Given the description of an element on the screen output the (x, y) to click on. 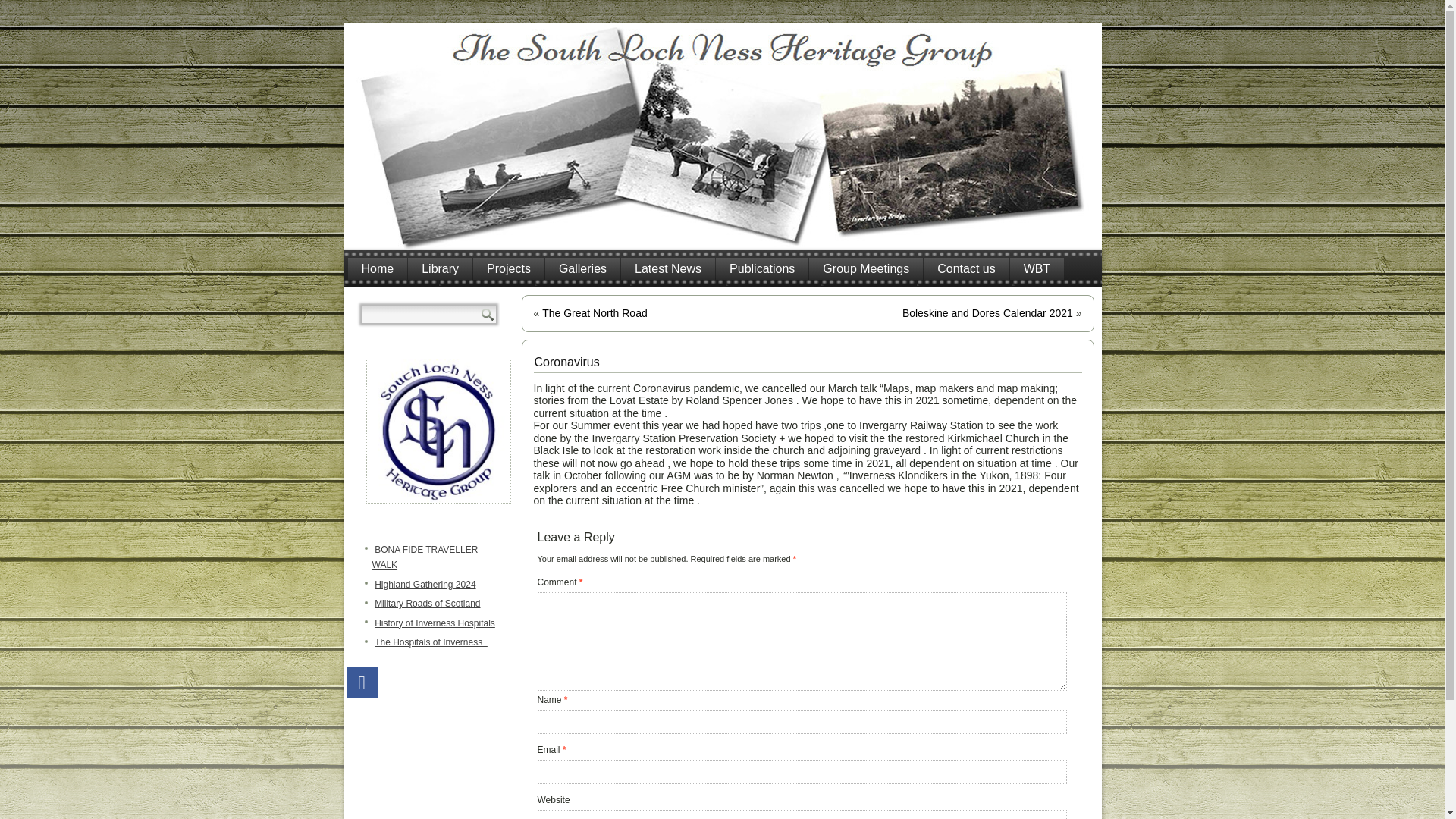
Home (377, 268)
Library (439, 268)
Library (439, 268)
Home (377, 268)
